Given the description of an element on the screen output the (x, y) to click on. 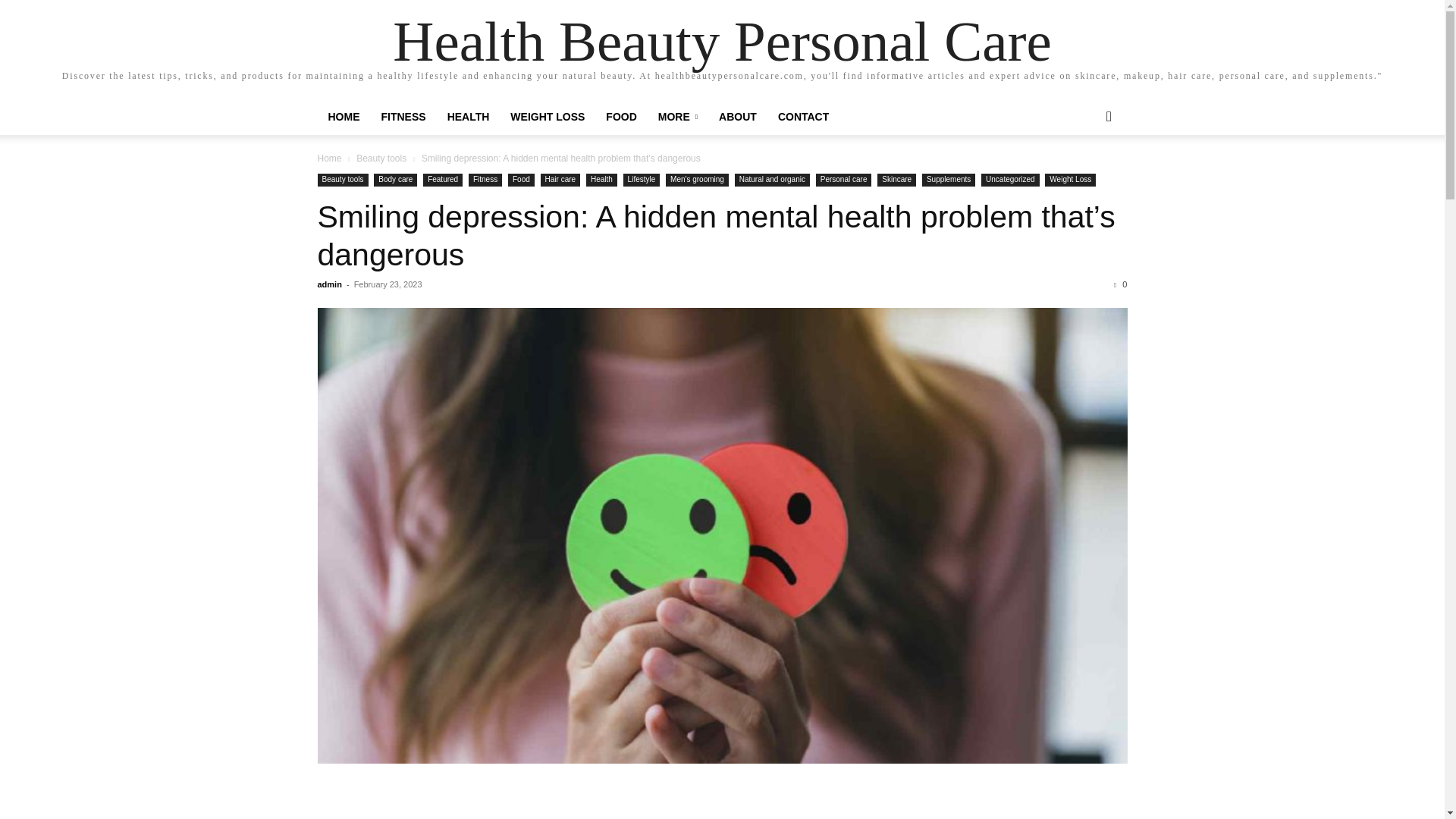
ABOUT (737, 116)
MORE (677, 116)
CONTACT (803, 116)
Fitness (485, 179)
View all posts in Beauty tools (381, 158)
Food (521, 179)
WEIGHT LOSS (547, 116)
Lifestyle (642, 179)
Health Beauty Personal Care (722, 41)
Natural and organic (772, 179)
